Given the description of an element on the screen output the (x, y) to click on. 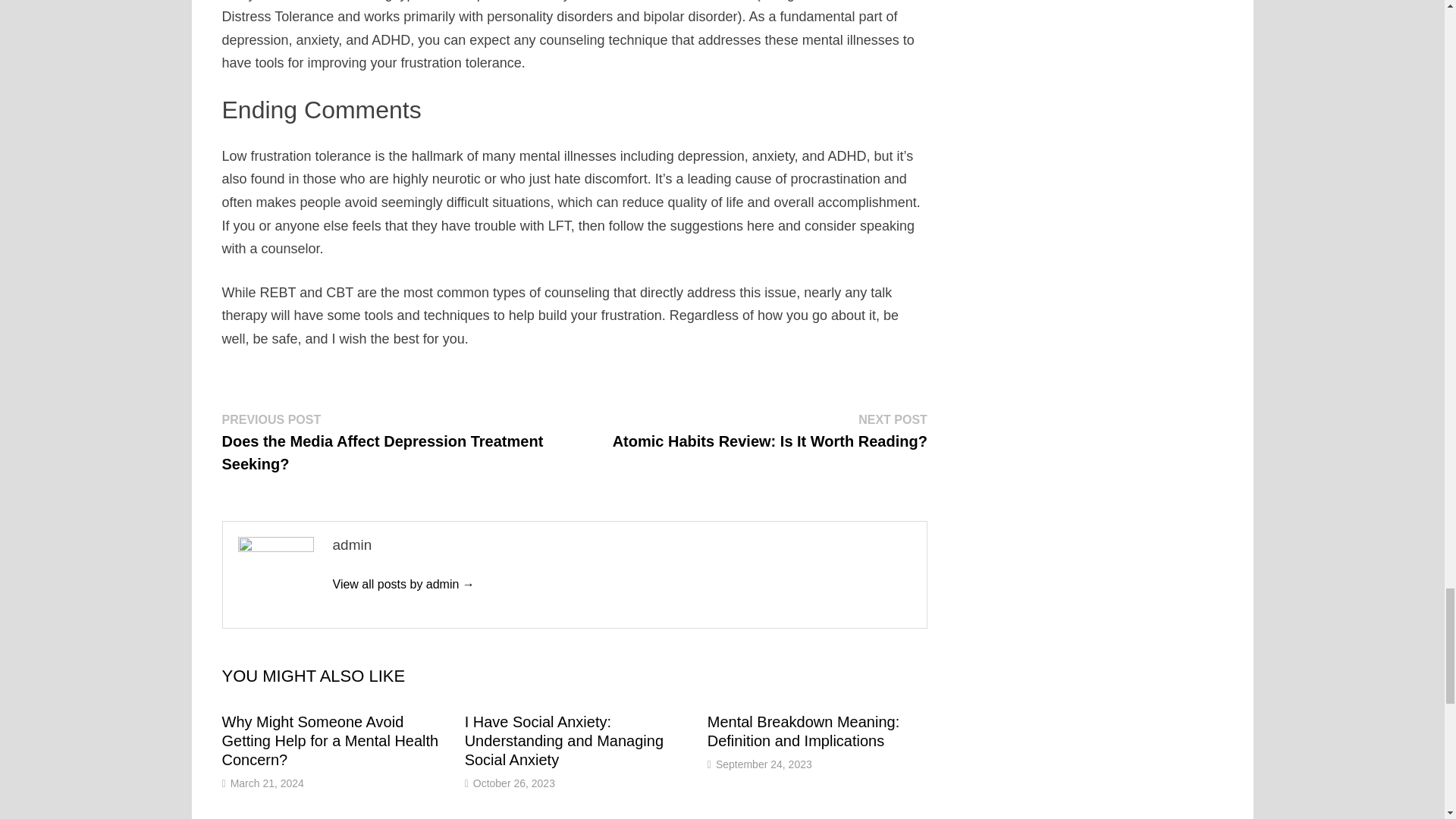
Mental Breakdown Meaning: Definition and Implications (803, 731)
October 26, 2023 (513, 783)
March 21, 2024 (267, 783)
admin (402, 584)
September 24, 2023 (764, 764)
